Given the description of an element on the screen output the (x, y) to click on. 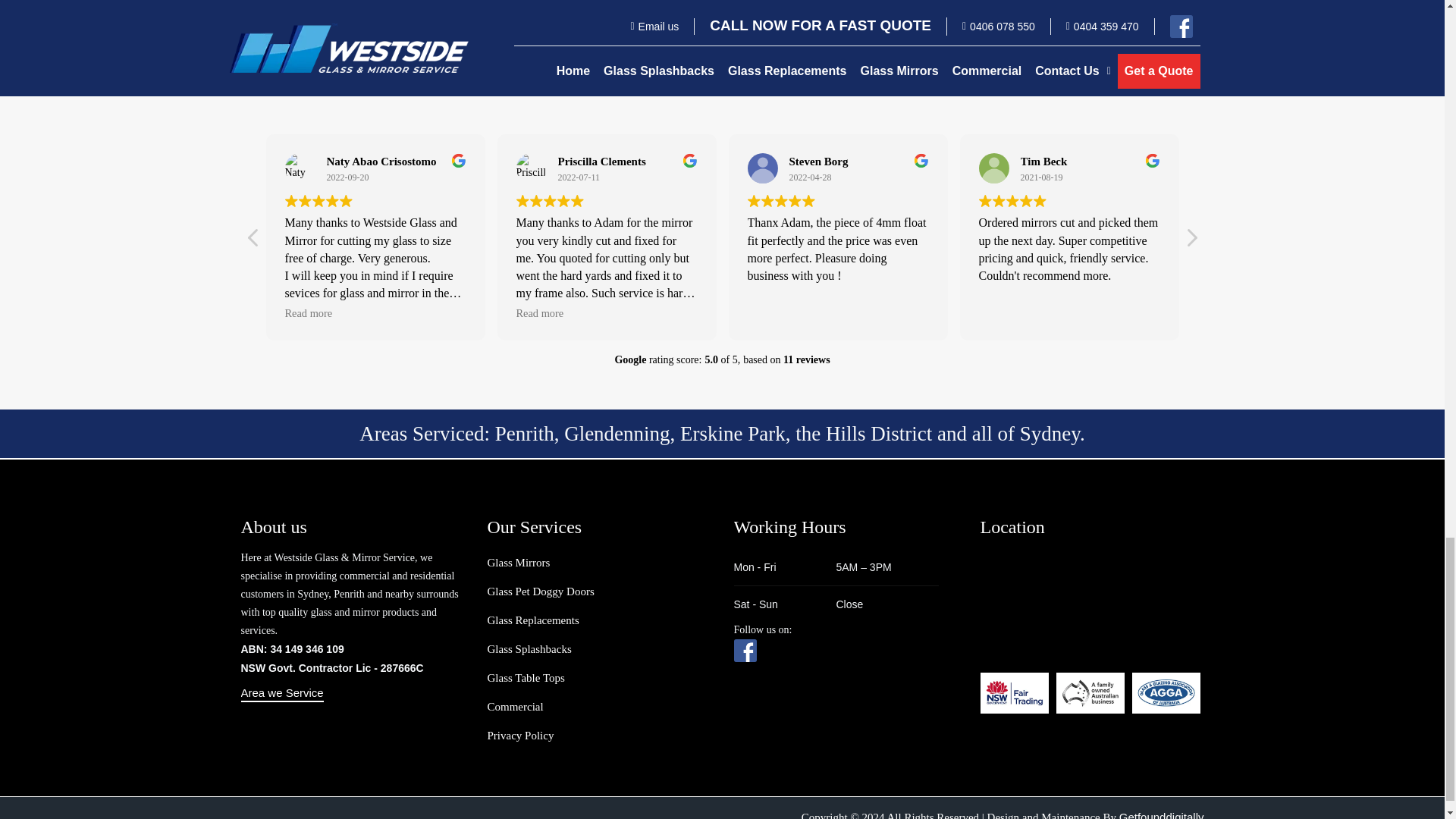
Glass Splashbacks (528, 649)
Call Westside today! (874, 4)
Glass Mirrors (518, 563)
Area we Service (282, 693)
Getfounddigitally (1161, 814)
Privacy Policy (519, 736)
Glass Pet Doggy Doors (540, 592)
Glass Table Tops (525, 678)
Commercial (514, 706)
Glass Replacements (532, 620)
